Given the description of an element on the screen output the (x, y) to click on. 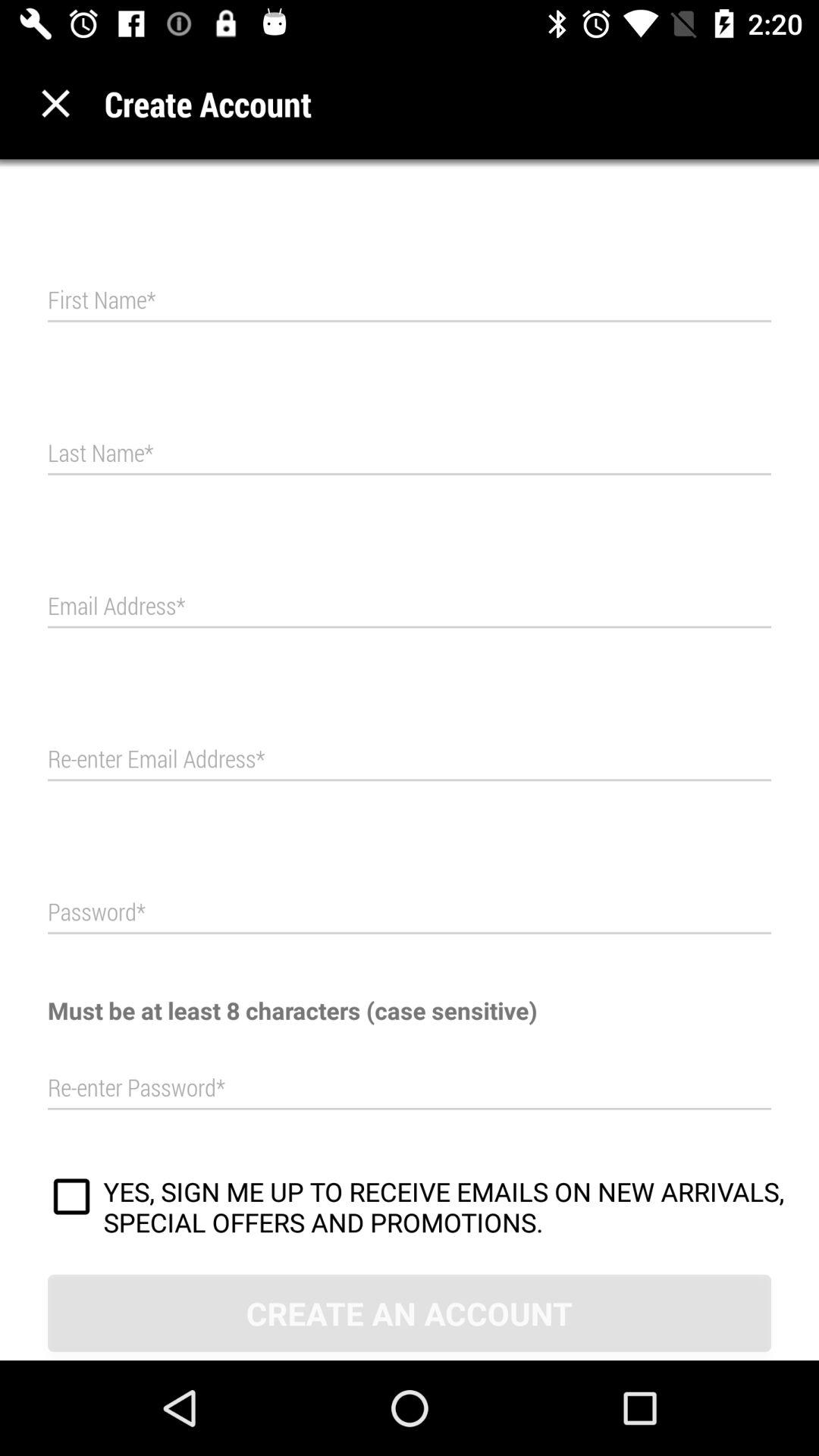
type first name (409, 300)
